Given the description of an element on the screen output the (x, y) to click on. 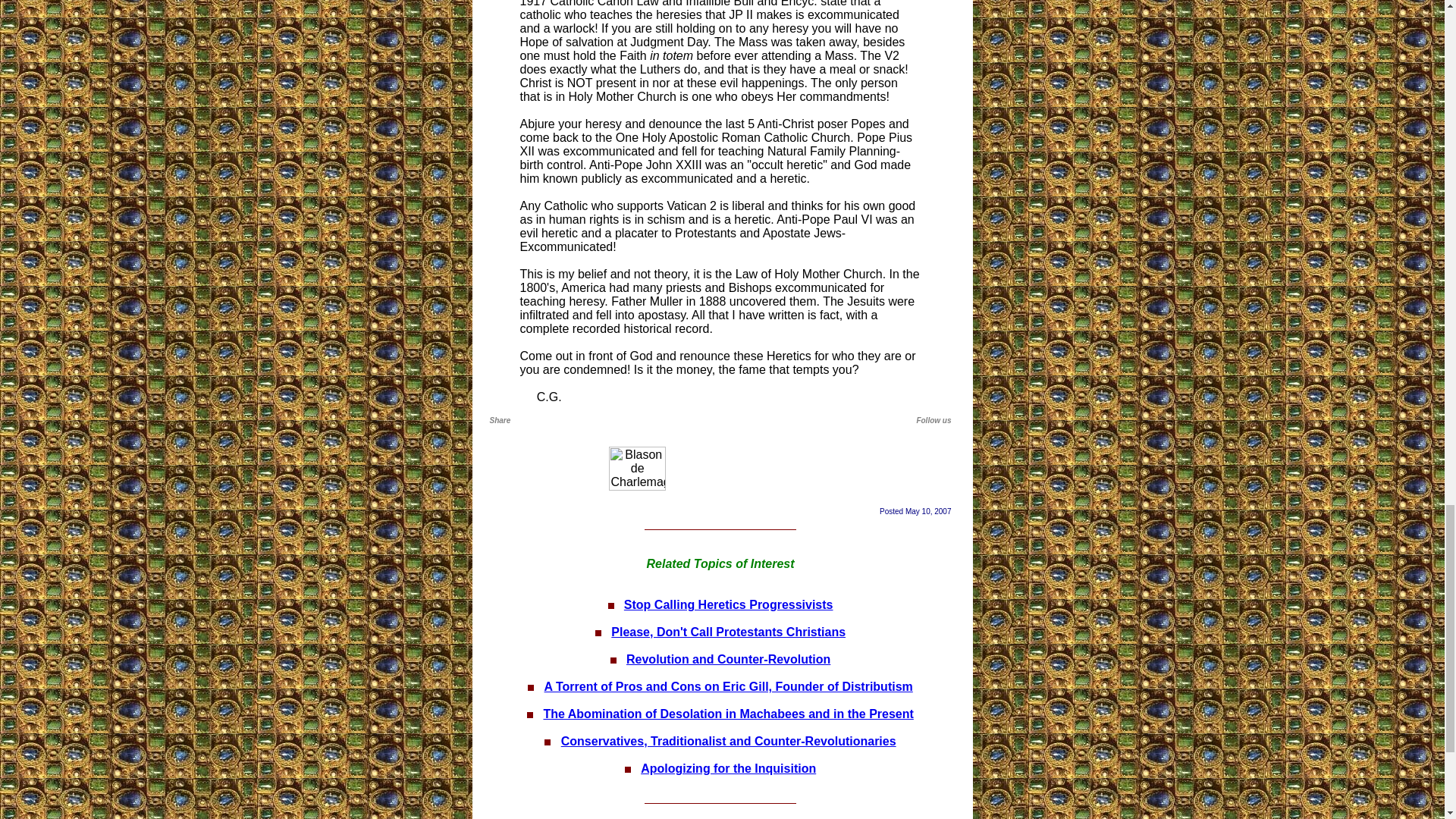
Apologizing for the Inquisition (727, 768)
Conservatives, Traditionalist and Counter-Revolutionaries (728, 740)
Revolution and Counter-Revolution (727, 658)
Please, Don't Call Protestants Christians (728, 631)
Stop Calling Heretics Progressivists (728, 604)
